Given the description of an element on the screen output the (x, y) to click on. 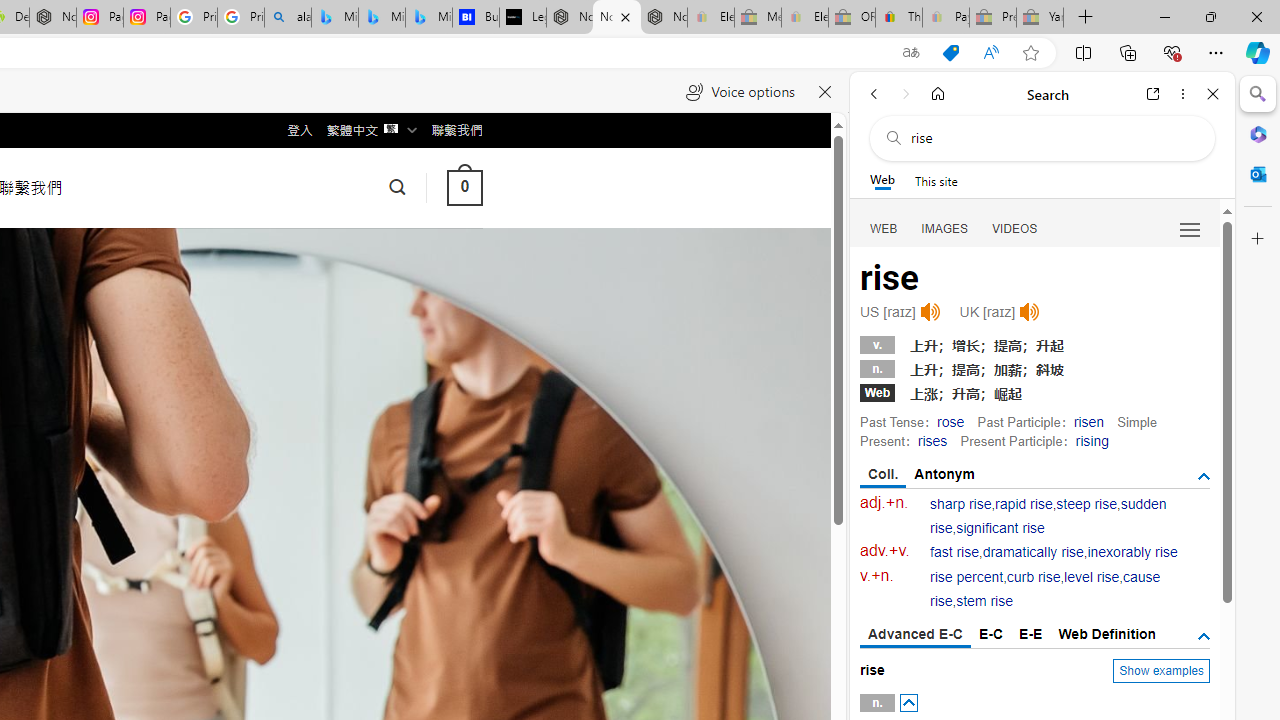
cause rise (1045, 589)
rapid rise (1023, 503)
Microsoft Bing Travel - Flights from Hong Kong to Bangkok (335, 17)
rose (950, 421)
Close read aloud (825, 92)
dramatically rise (1032, 552)
